Given the description of an element on the screen output the (x, y) to click on. 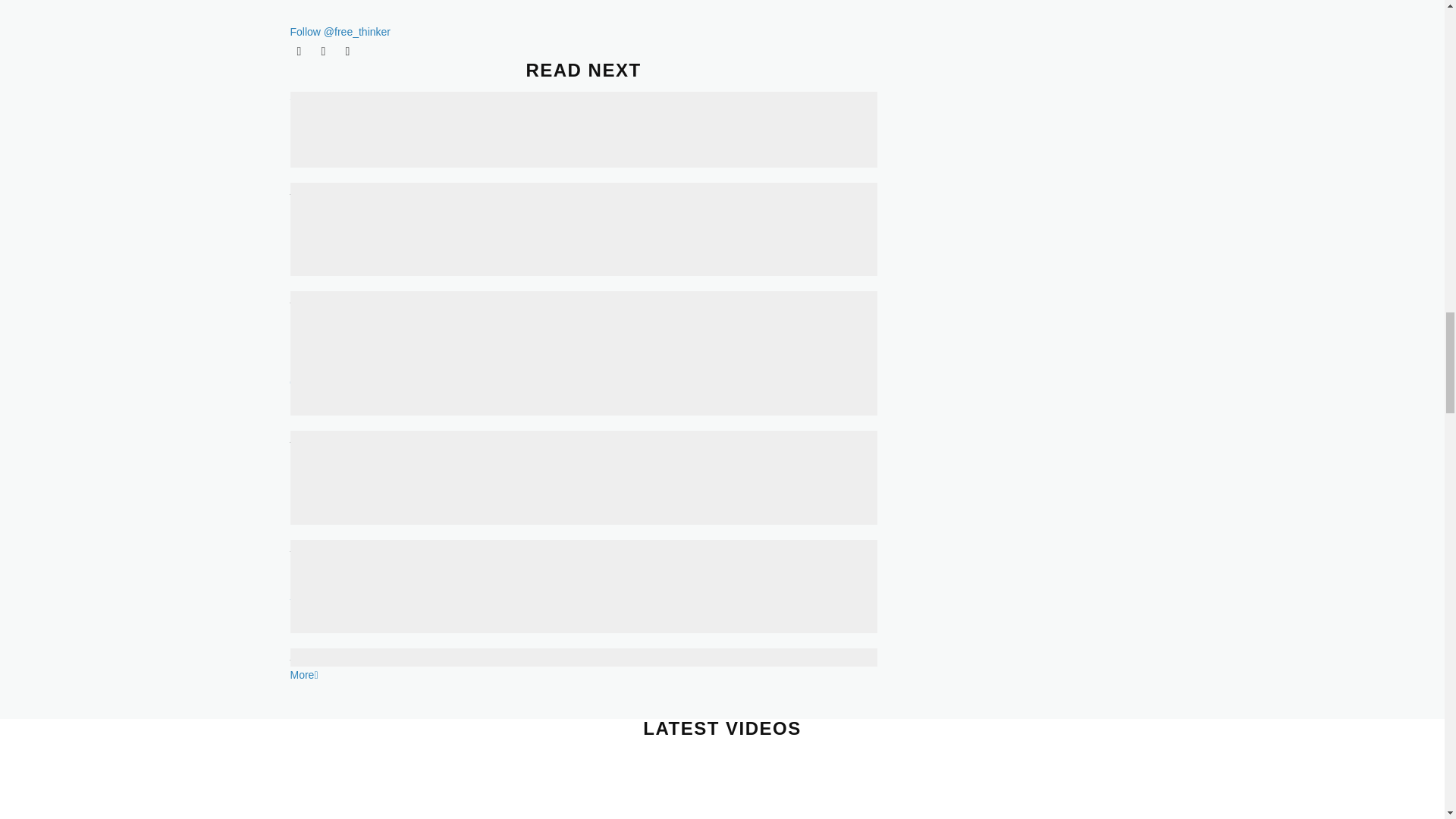
Follow me on Facebook (322, 50)
Follow me on Twitter (298, 50)
Alt News Desk (350, 1)
